Given the description of an element on the screen output the (x, y) to click on. 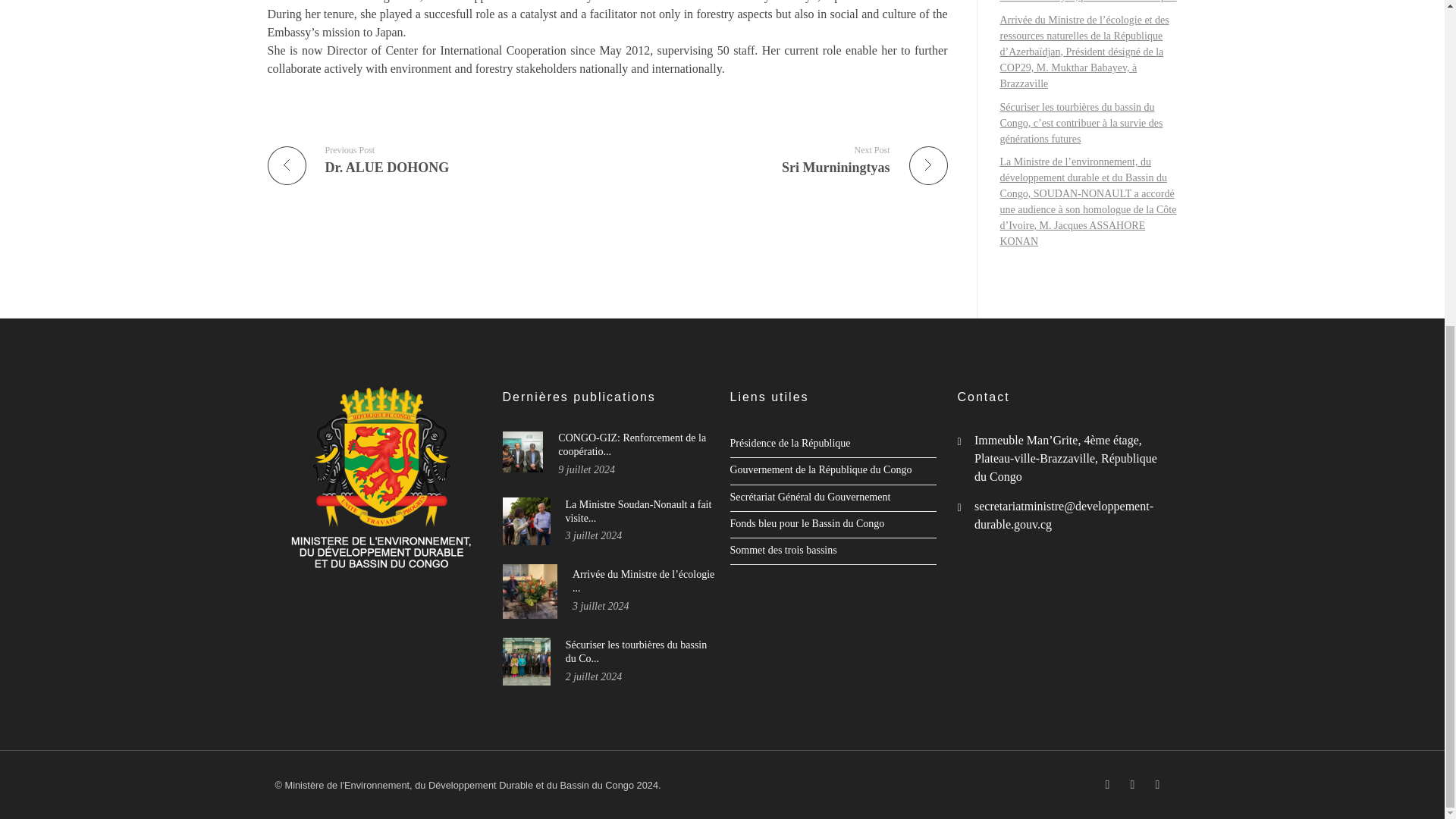
La Ministre Soudan-Nonault a fait visite... (430, 159)
Fonds bleu pour le Bassin du Congo (638, 511)
Sommet des trois bassins (806, 523)
